Given the description of an element on the screen output the (x, y) to click on. 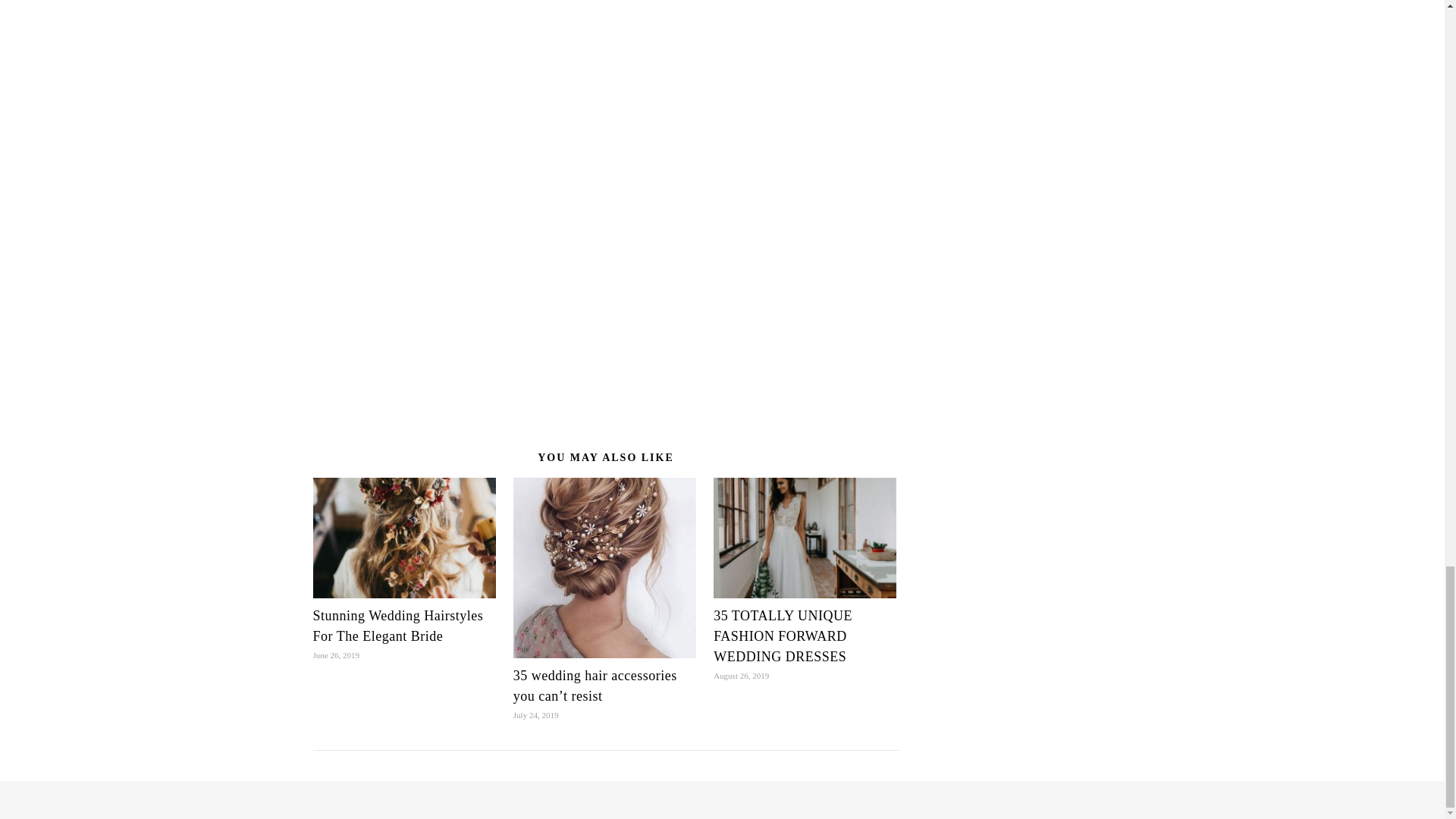
Advertisement (1028, 17)
Advertisement (605, 93)
